Given the description of an element on the screen output the (x, y) to click on. 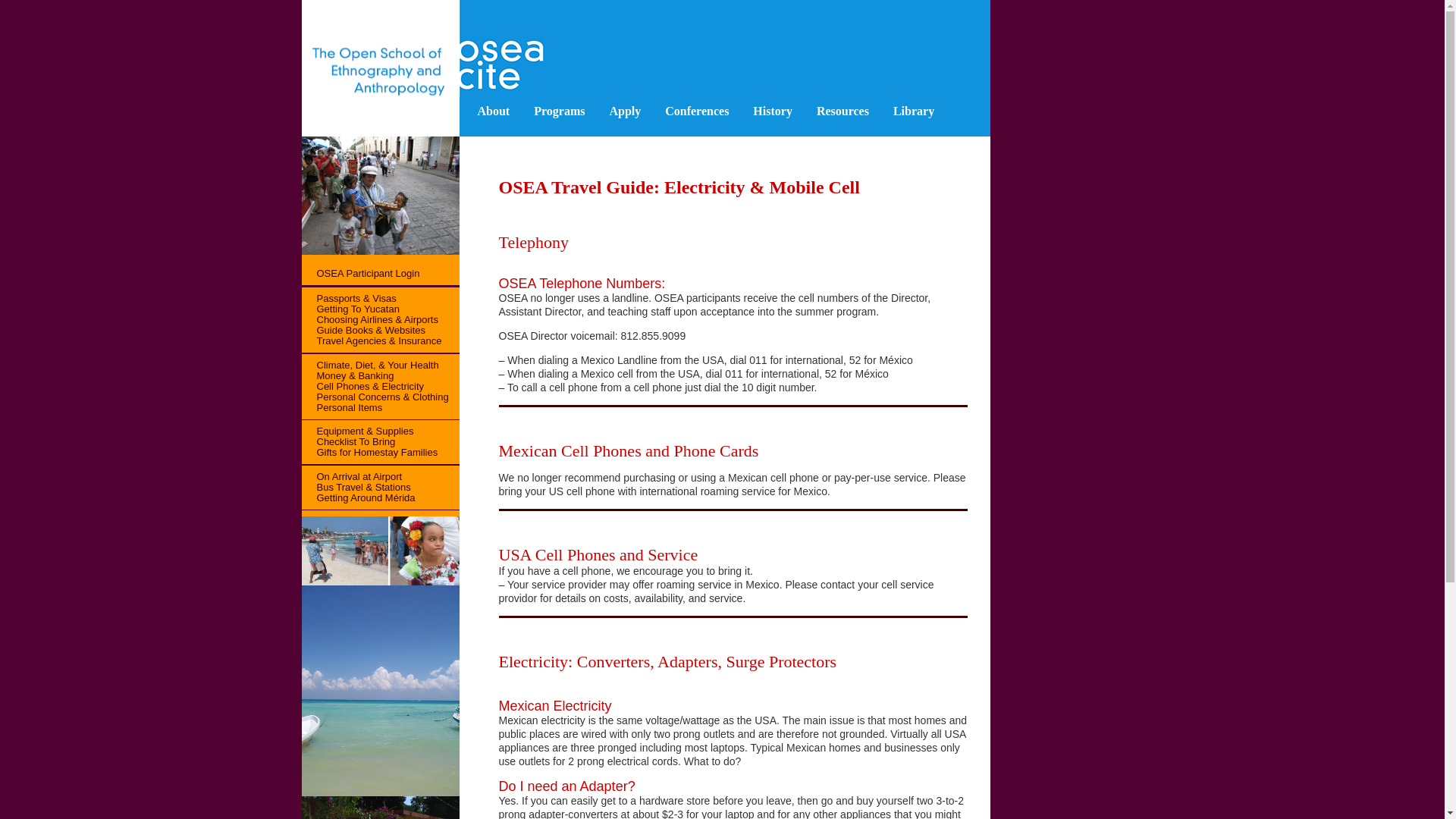
Personal Items (341, 407)
Programs (559, 111)
OSEA Participant Login (360, 273)
Gifts for Homestay Families (369, 451)
Getting To Yucatan (349, 308)
On Arrival at Airport (352, 476)
Checklist To Bring (348, 441)
About (493, 111)
